Given the description of an element on the screen output the (x, y) to click on. 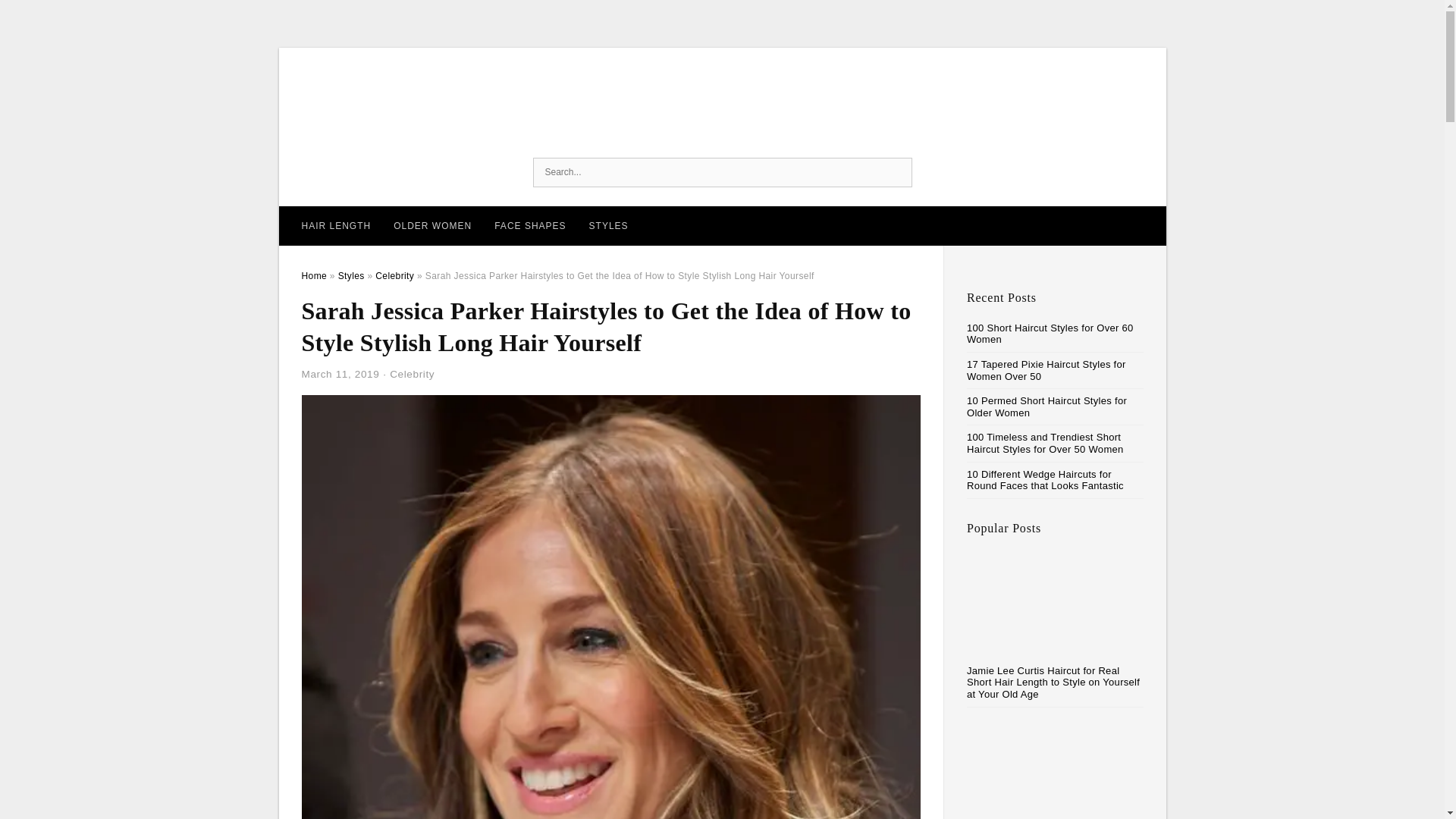
FACE SHAPES (529, 225)
Search for: (721, 172)
HAIR LENGTH (335, 225)
Styles (351, 276)
STYLES (609, 225)
Home (314, 276)
Celebrity (411, 374)
Search (895, 173)
